Given the description of an element on the screen output the (x, y) to click on. 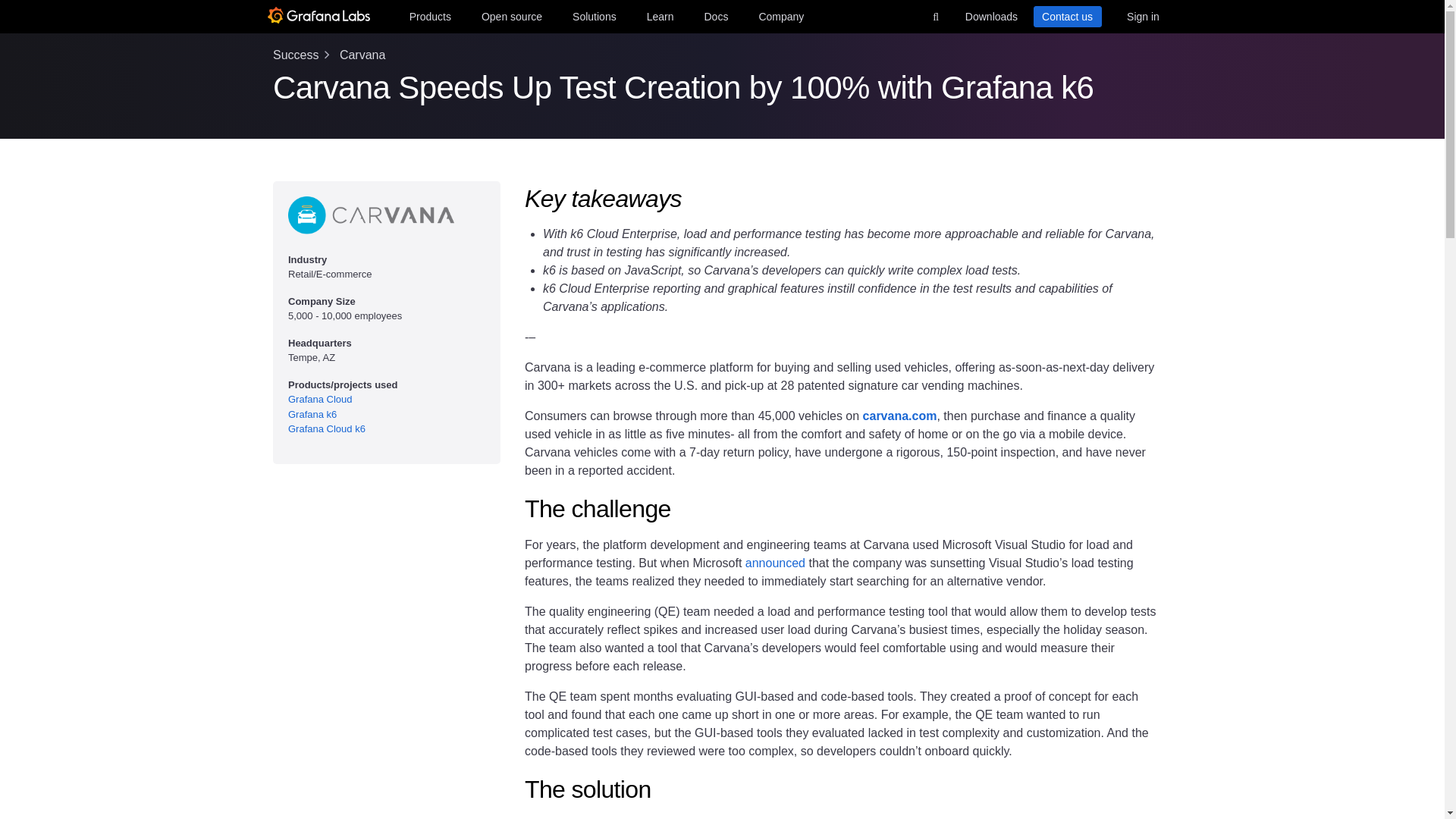
Learn (660, 16)
Solutions (594, 16)
Docs (715, 16)
Company (780, 16)
Downloads (990, 16)
Sign in (1142, 16)
Contact us (1066, 16)
Products (429, 16)
Open source (512, 16)
